Given the description of an element on the screen output the (x, y) to click on. 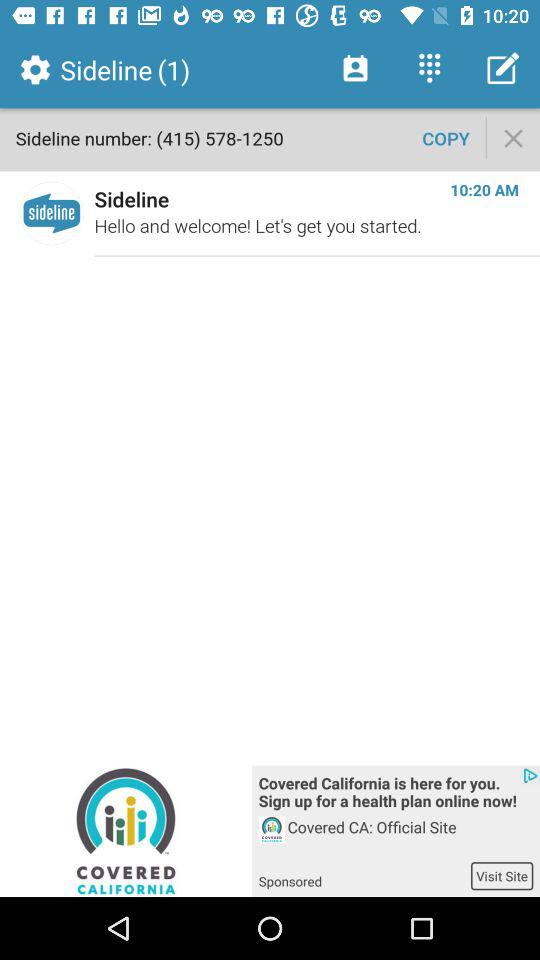
choose app above the sponsored item (410, 838)
